Given the description of an element on the screen output the (x, y) to click on. 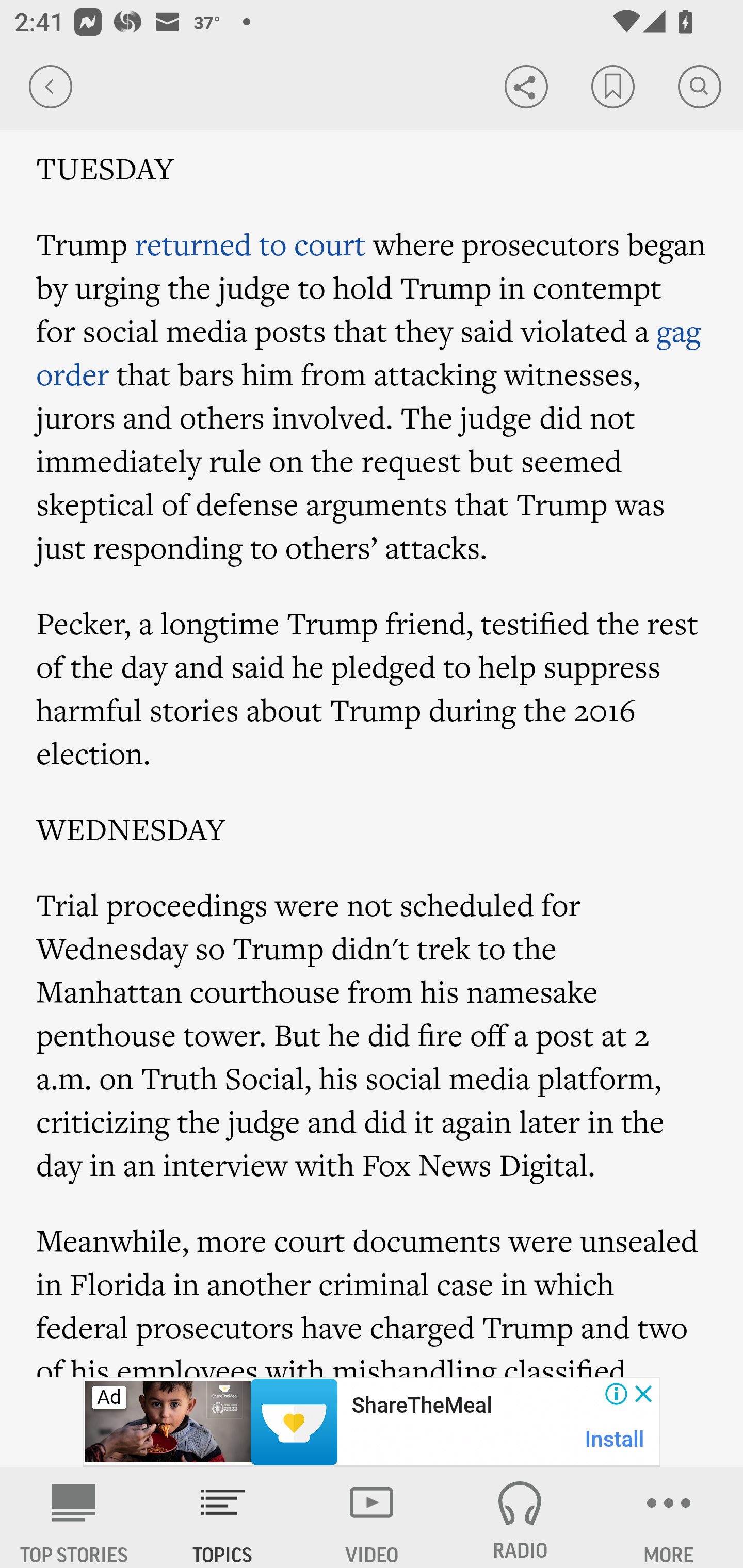
returned to court (249, 243)
gag order (369, 351)
ShareTheMeal (420, 1405)
Install (614, 1438)
AP News TOP STORIES (74, 1517)
TOPICS (222, 1517)
VIDEO (371, 1517)
RADIO (519, 1517)
MORE (668, 1517)
